Given the description of an element on the screen output the (x, y) to click on. 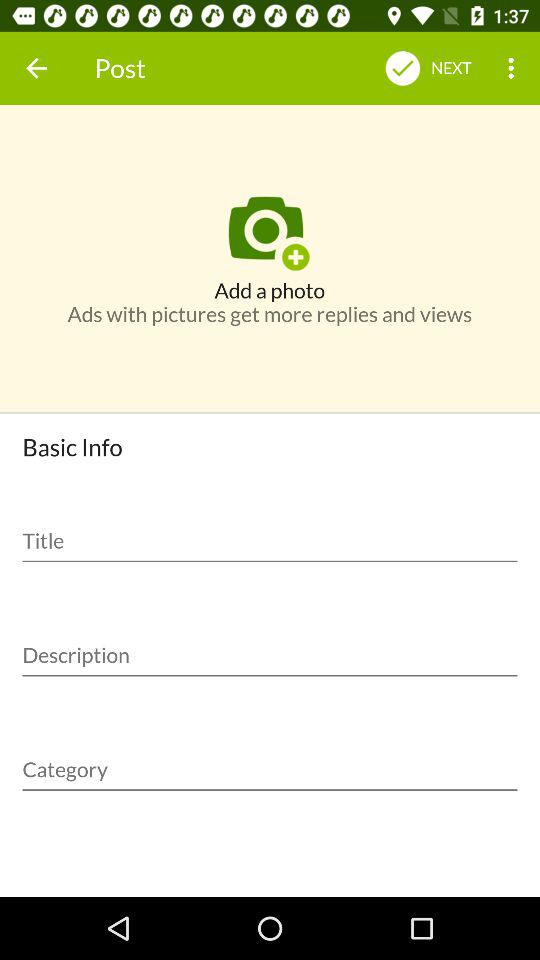
press the icon to the left of the post item (36, 68)
